Given the description of an element on the screen output the (x, y) to click on. 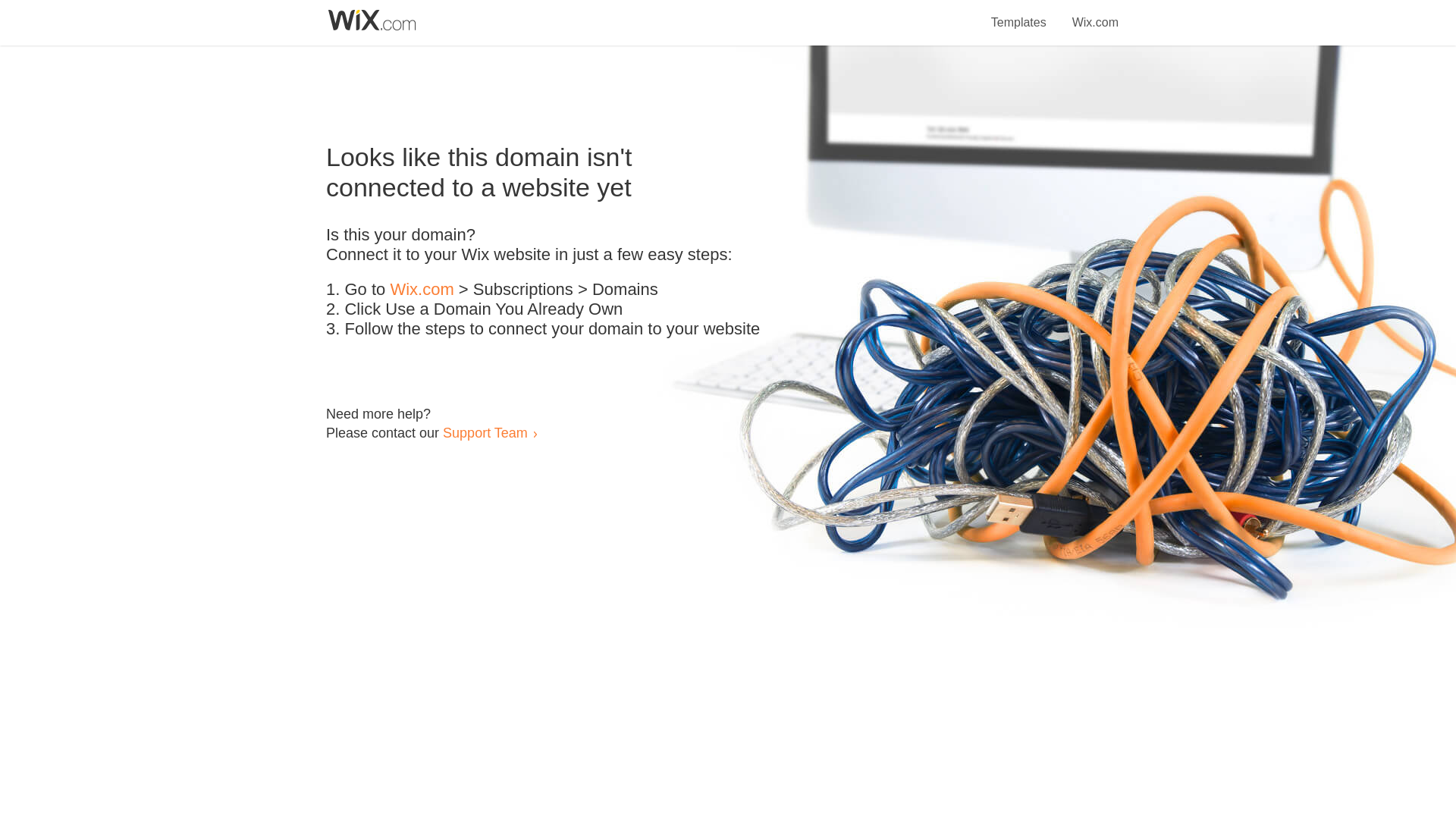
Support Team (484, 432)
Wix.com (1095, 14)
Wix.com (421, 289)
Templates (1018, 14)
